Given the description of an element on the screen output the (x, y) to click on. 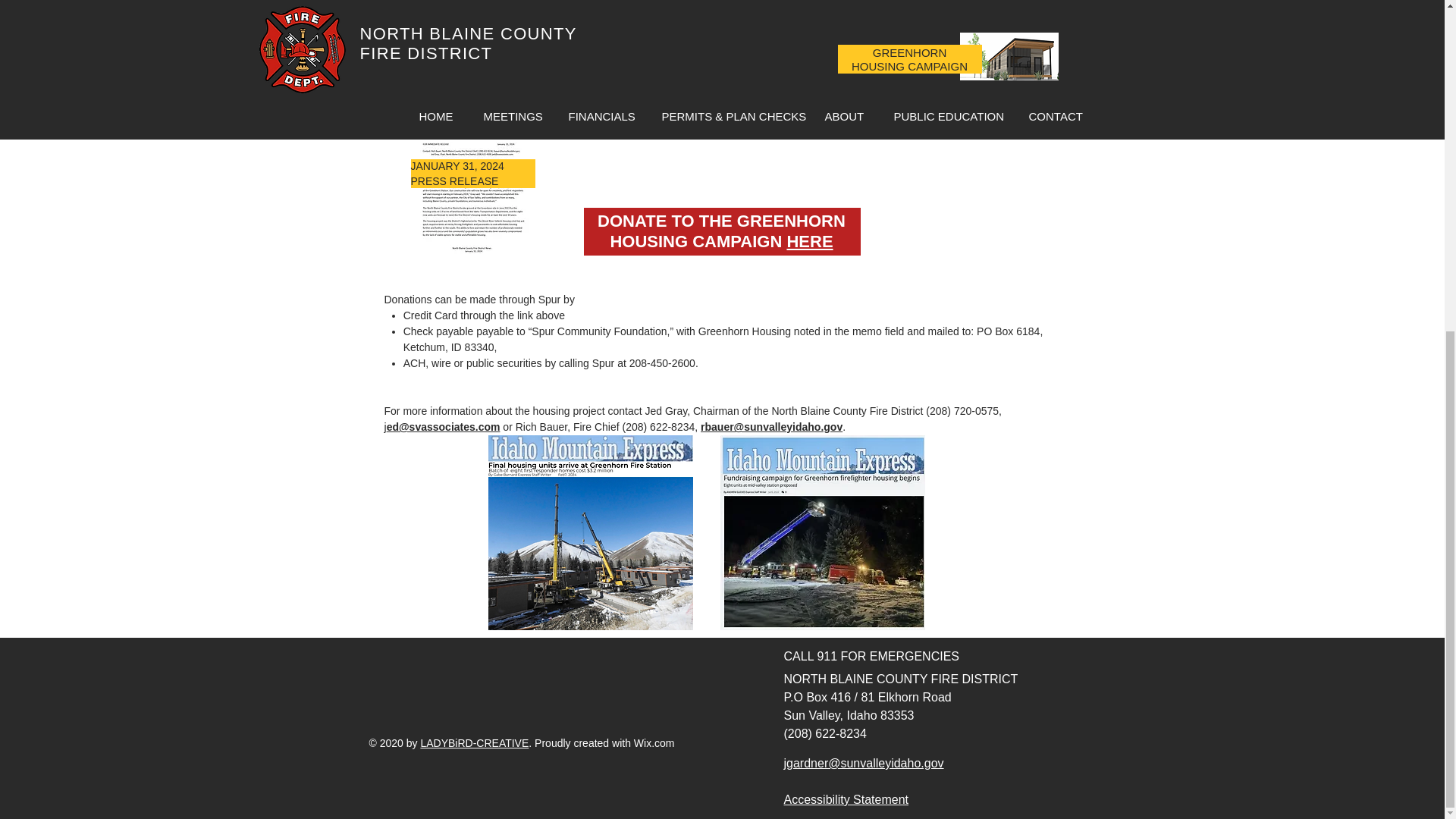
DONATE TO THE GREENHORN HOUSING CAMPAIGN HERE (720, 230)
